Given the description of an element on the screen output the (x, y) to click on. 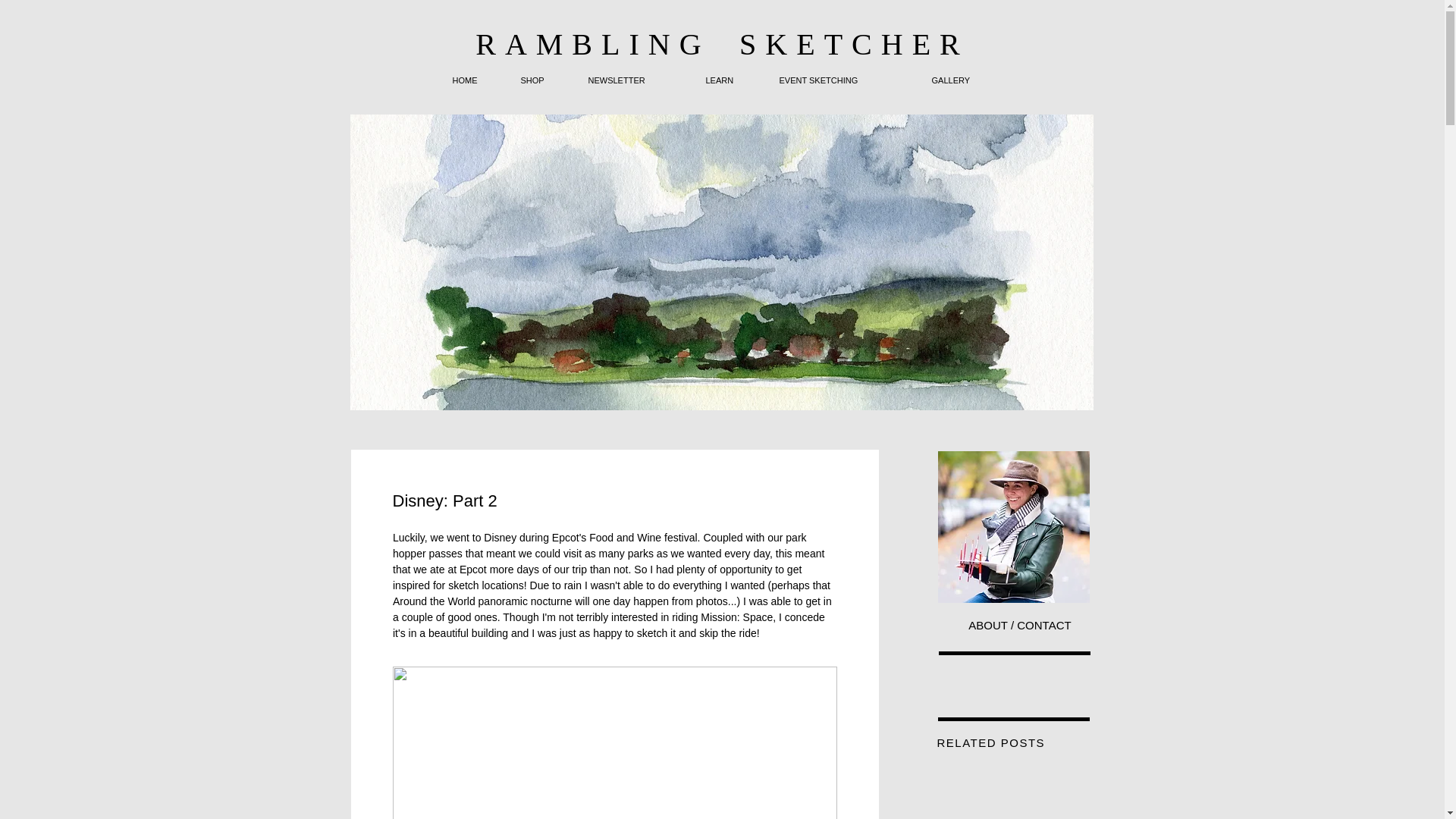
LEARN (731, 80)
 SKETCHER (845, 44)
SHOP (542, 80)
GALLERY (964, 80)
RAMBLING (593, 44)
EVENT SKETCHING (844, 80)
HOME (475, 80)
NEWSLETTER (636, 80)
